Given the description of an element on the screen output the (x, y) to click on. 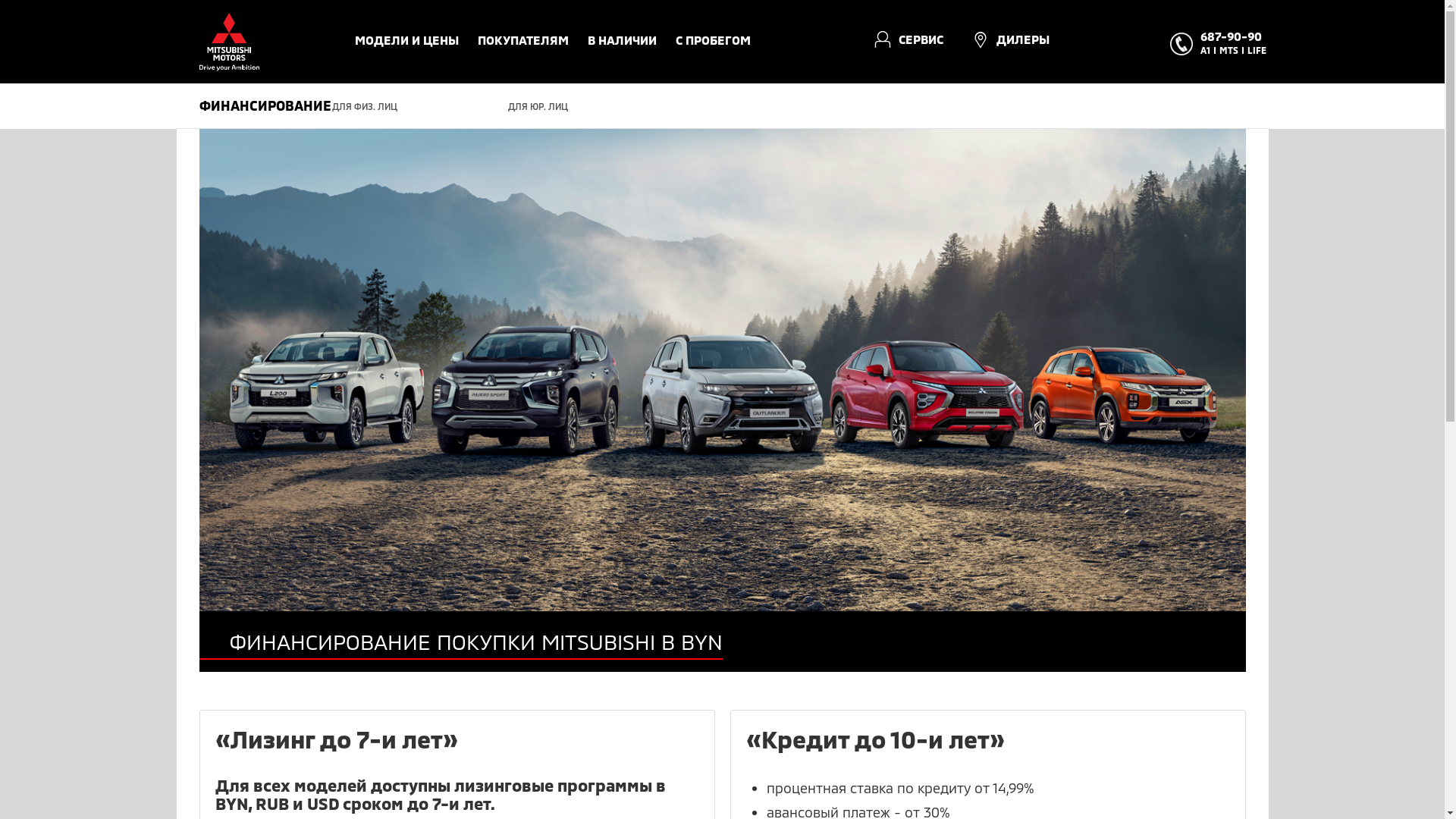
687-90-90 Element type: text (1230, 38)
